Given the description of an element on the screen output the (x, y) to click on. 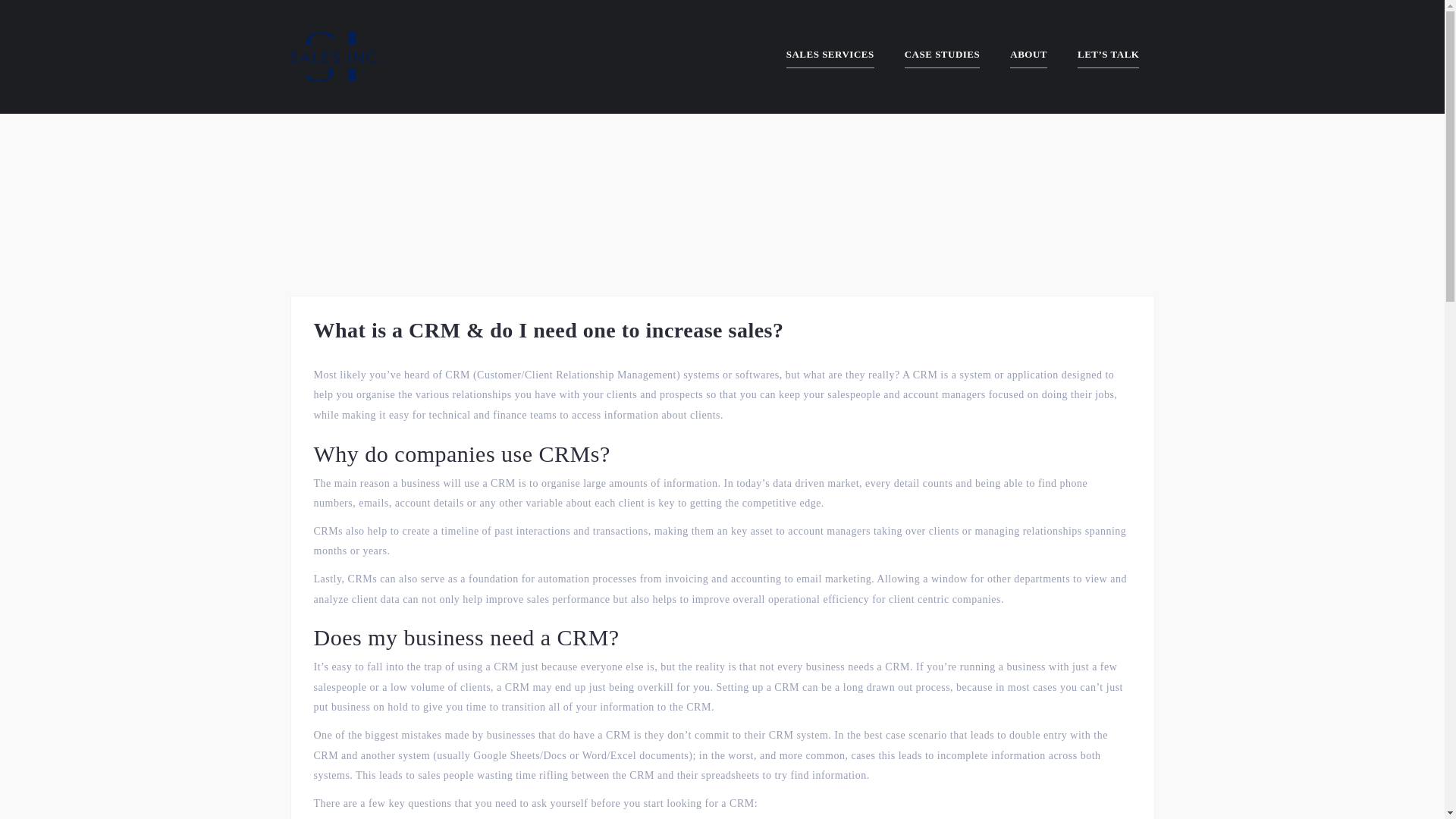
Sales as a Service (334, 55)
SALES SERVICES (830, 56)
ABOUT (1028, 56)
CASE STUDIES (941, 56)
